Given the description of an element on the screen output the (x, y) to click on. 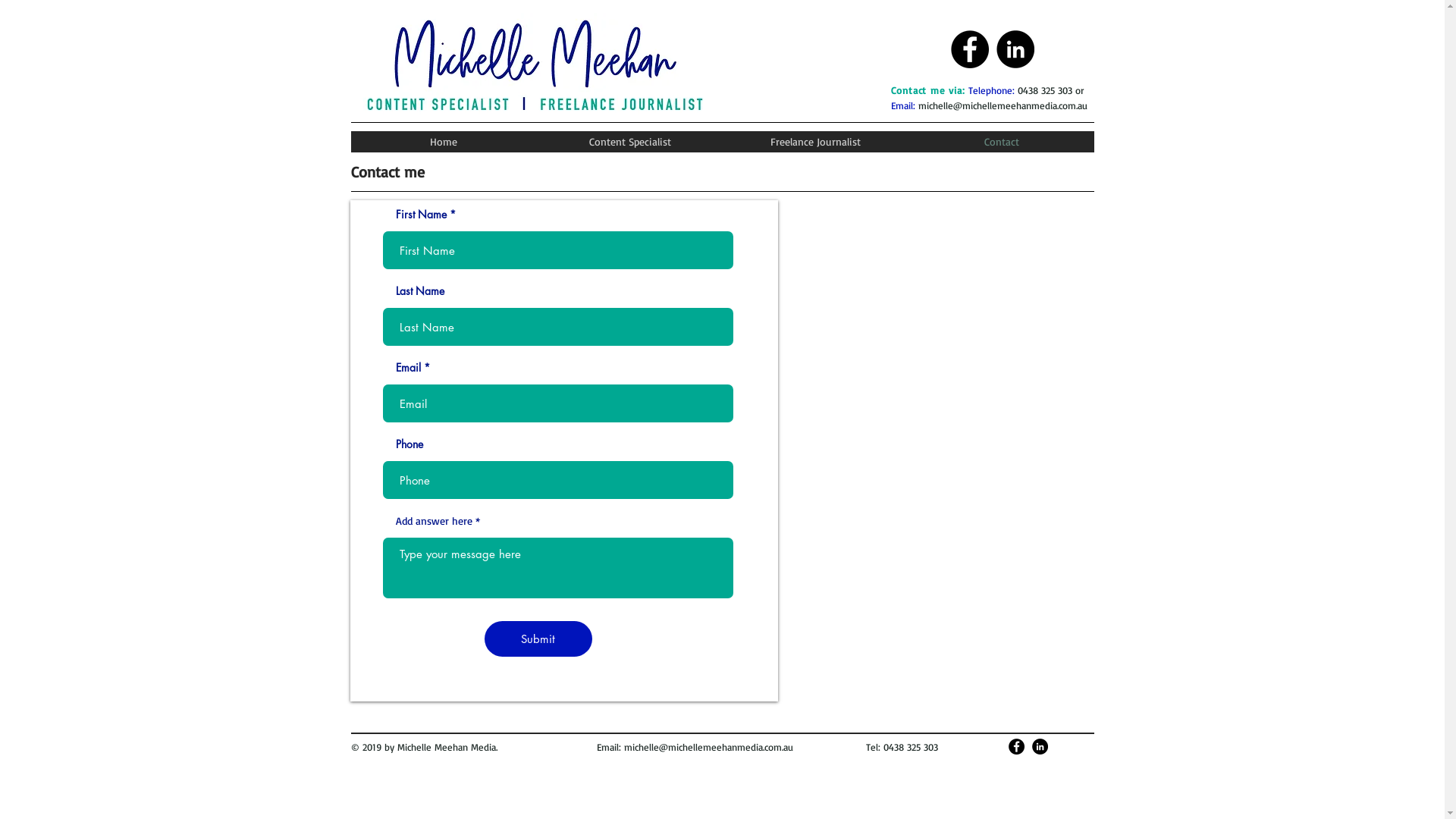
Content Specialist Element type: text (629, 141)
CONCEPTS_MMM_RGB_Artboard 6.jpg Element type: hover (533, 67)
Submit Element type: text (537, 638)
michelle@michellemeehanmedia.com.au Element type: text (1001, 105)
Freelance Journalist Element type: text (814, 141)
Contact Element type: text (1001, 141)
michelle@michellemeehanmedia.com.au Element type: text (707, 746)
Home Element type: text (443, 141)
